Given the description of an element on the screen output the (x, y) to click on. 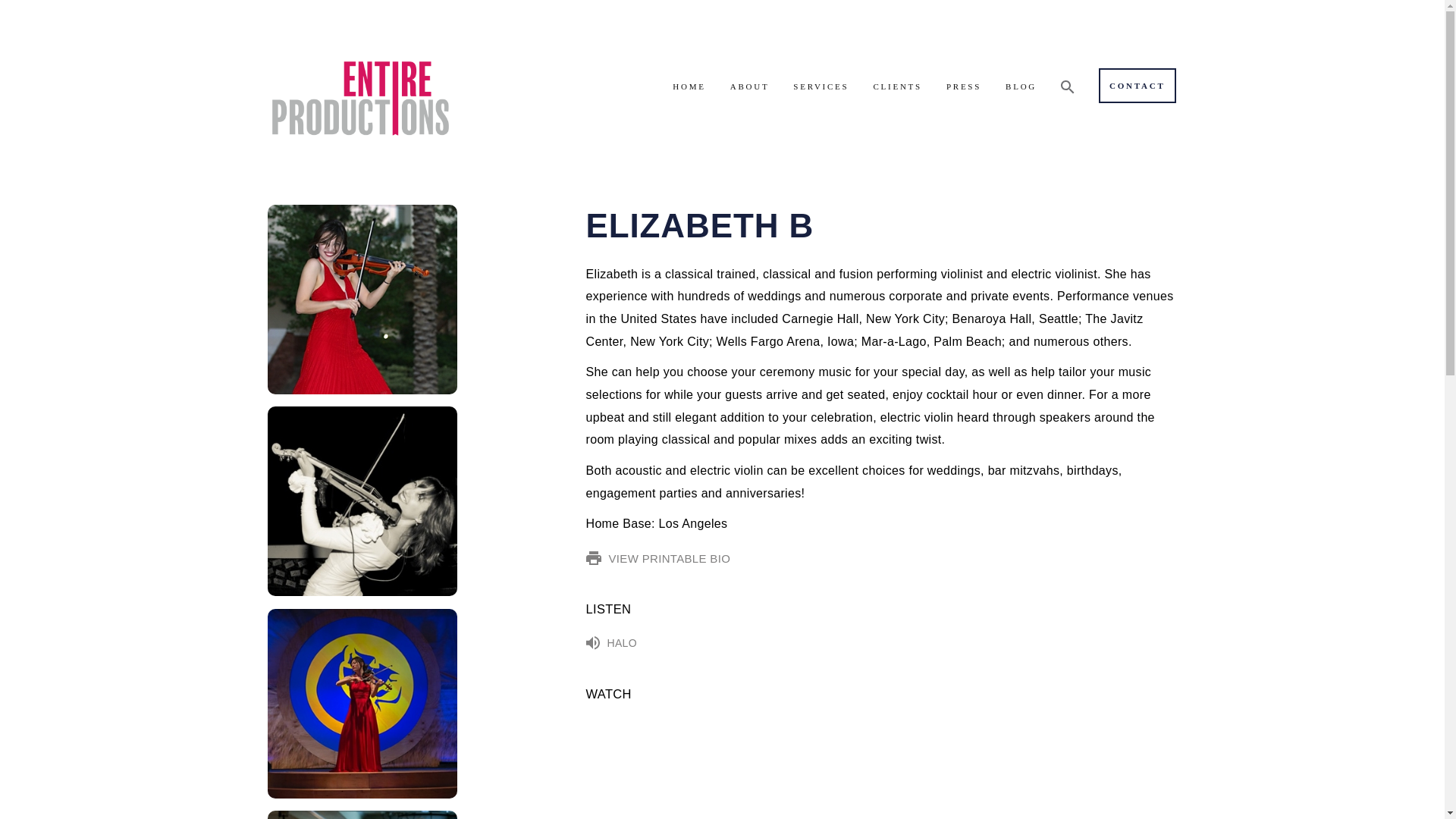
VIEW PRINTABLE BIO (880, 558)
CONTACT (1136, 85)
HALO (880, 642)
SERVICES (820, 83)
